Given the description of an element on the screen output the (x, y) to click on. 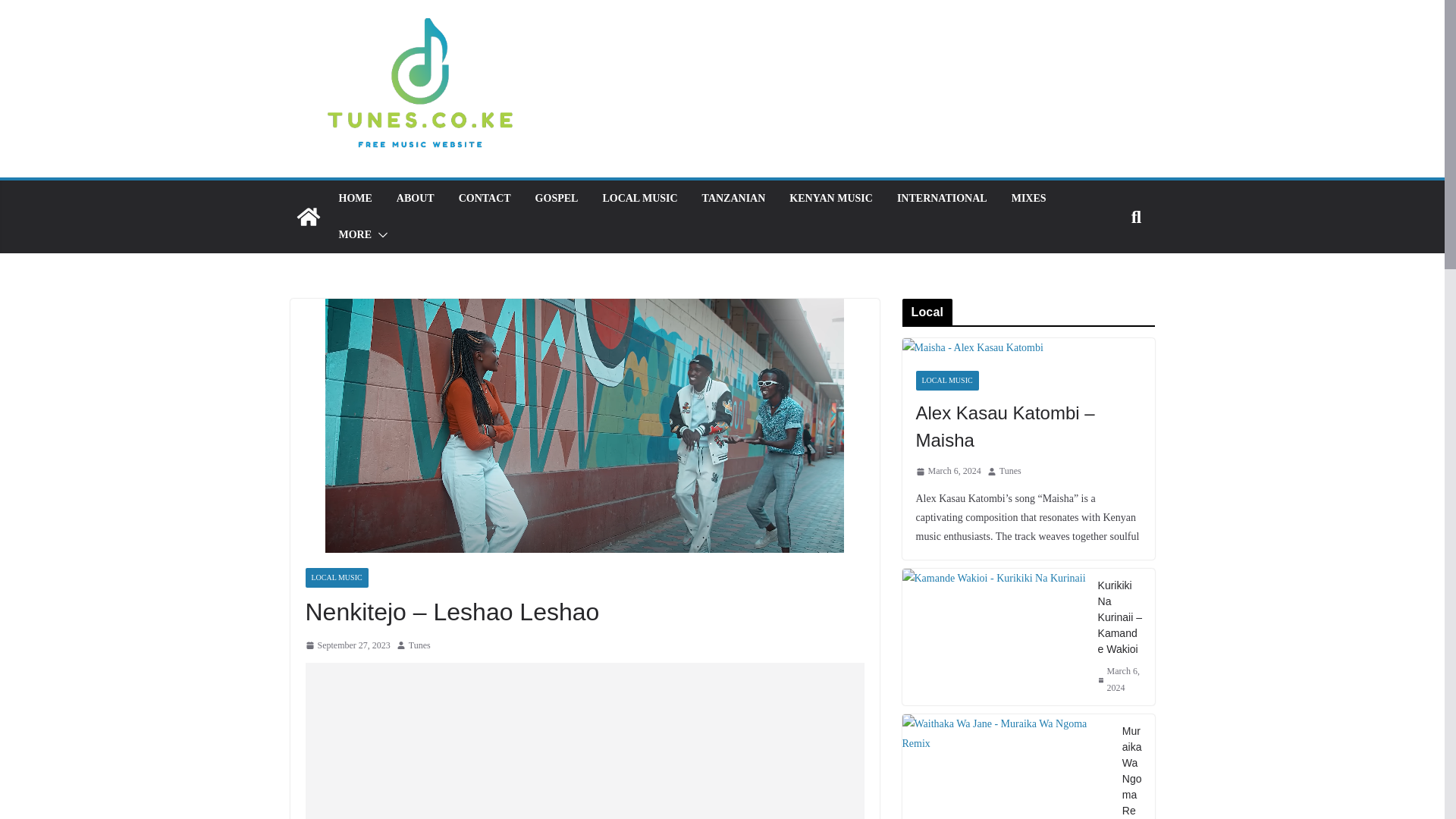
KENYAN MUSIC (830, 198)
10:10 am (347, 646)
HOME (354, 198)
INTERNATIONAL (941, 198)
CONTACT (484, 198)
GOSPEL (556, 198)
LOCAL MUSIC (639, 198)
TANZANIAN (733, 198)
Tunes (419, 646)
September 27, 2023 (347, 646)
